Given the description of an element on the screen output the (x, y) to click on. 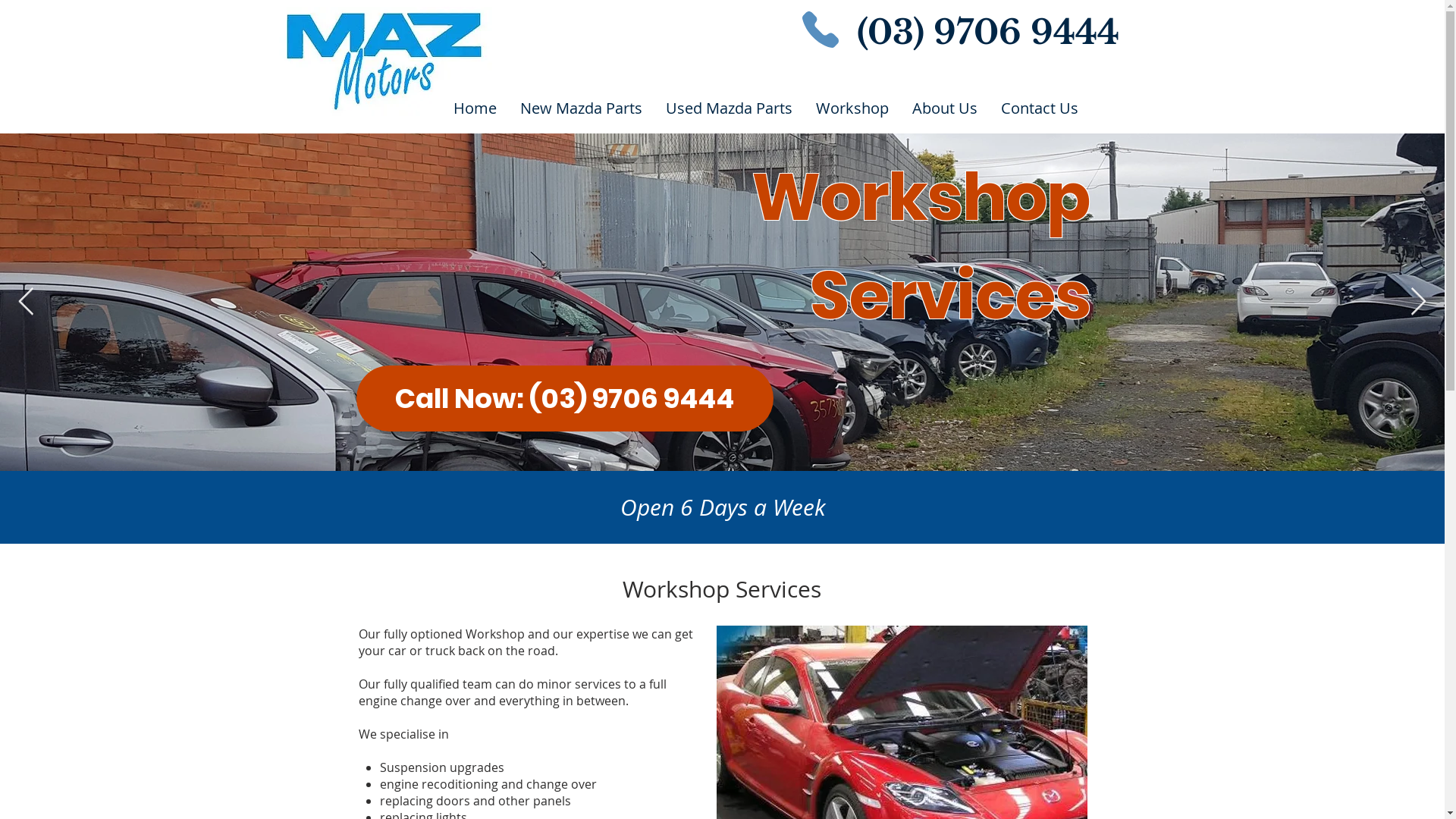
Call Now: (03) 9706 9444 Element type: text (564, 398)
New Mazda Parts Element type: text (580, 107)
About Us Element type: text (944, 107)
Home Element type: text (474, 107)
Workshop Element type: text (851, 107)
Contact Us Element type: text (1038, 107)
Used Mazda Parts Element type: text (728, 107)
